Given the description of an element on the screen output the (x, y) to click on. 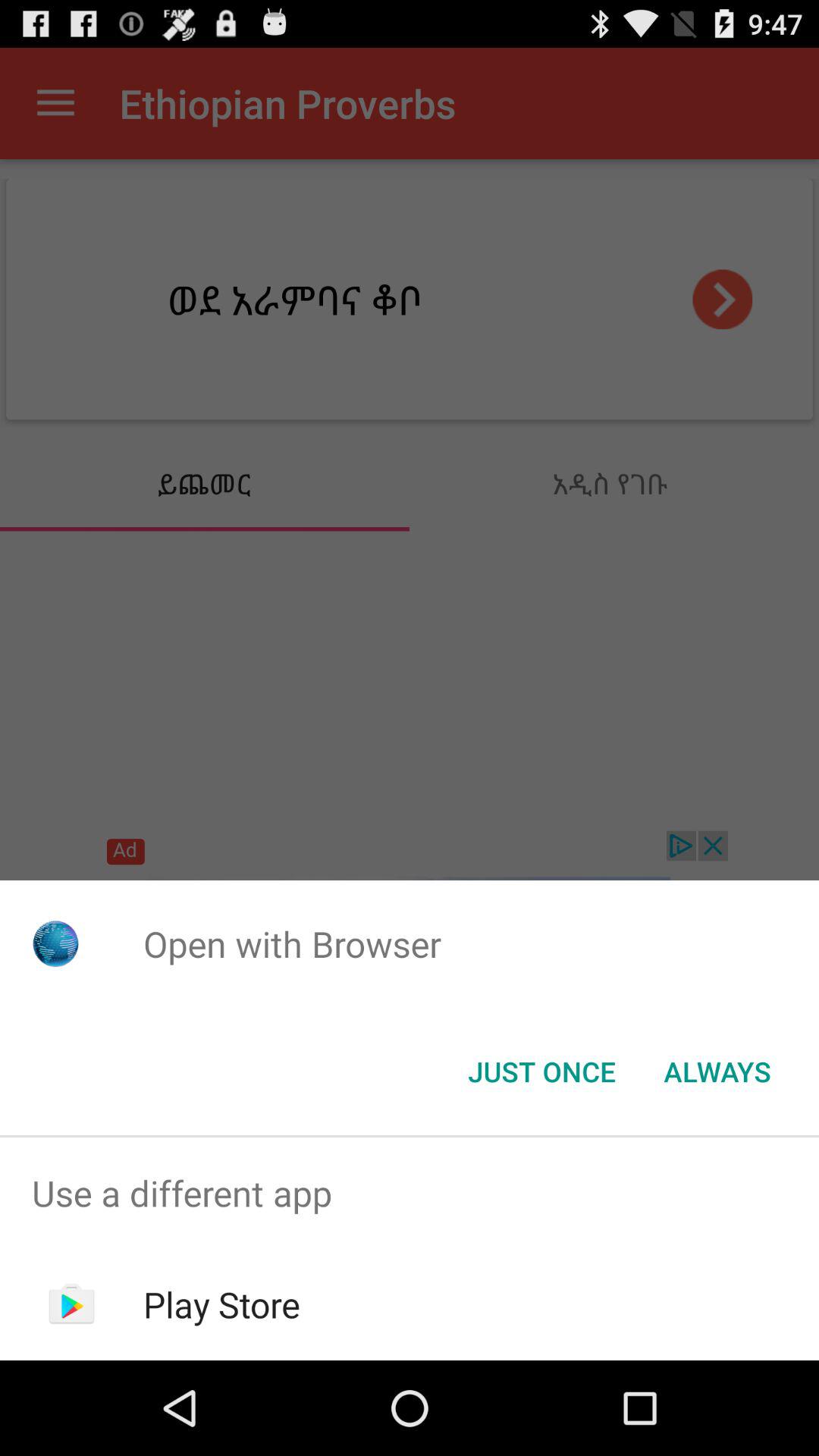
click the button to the right of the just once icon (717, 1071)
